Given the description of an element on the screen output the (x, y) to click on. 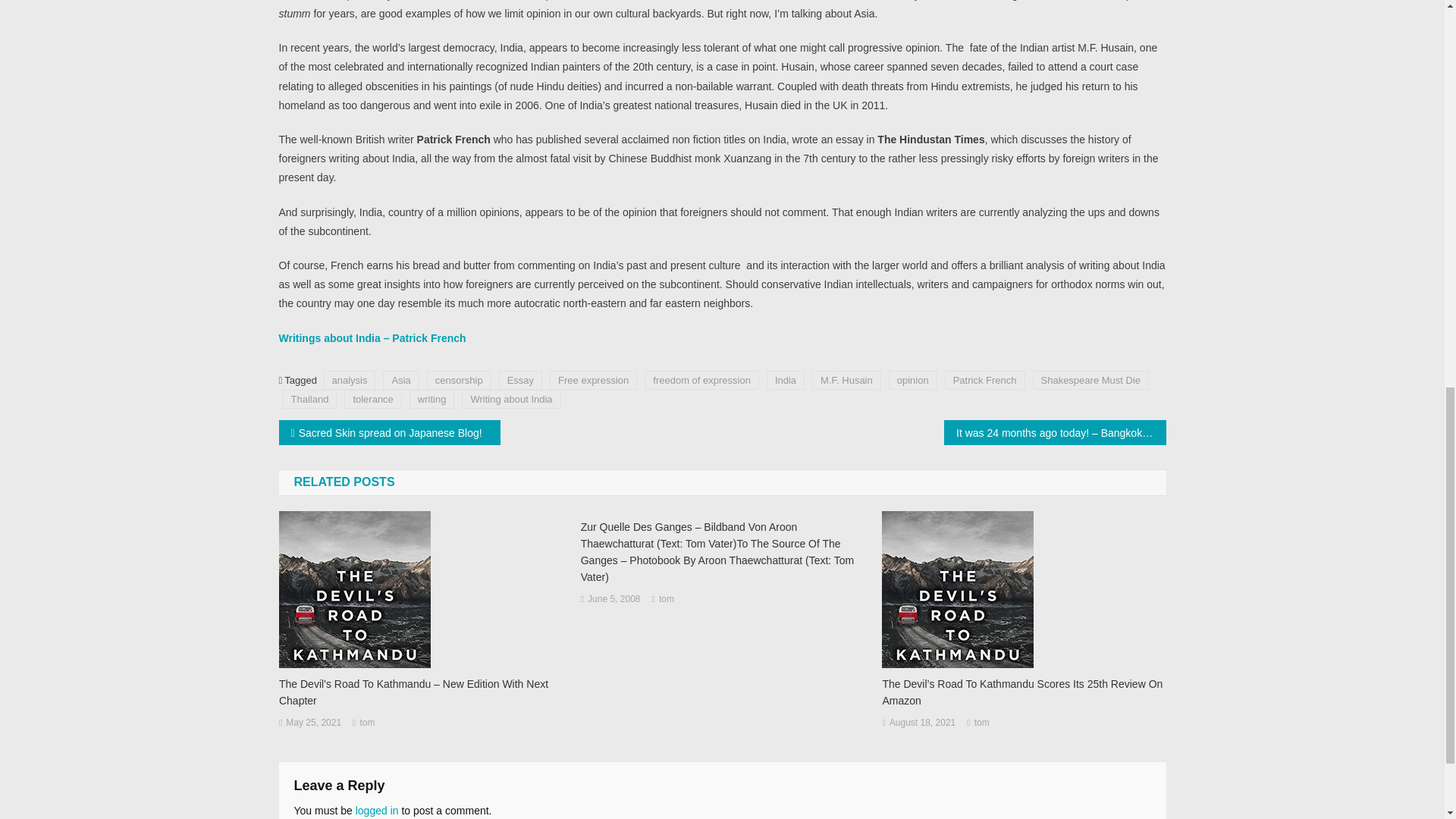
Essay (520, 380)
censorship (459, 380)
Writings about India - Patrick French (372, 337)
opinion (912, 380)
Free expression (593, 380)
writing (431, 398)
freedom of expression (701, 380)
Shakespeare Must Die (1091, 380)
Thailand (309, 398)
tolerance (372, 398)
